Given the description of an element on the screen output the (x, y) to click on. 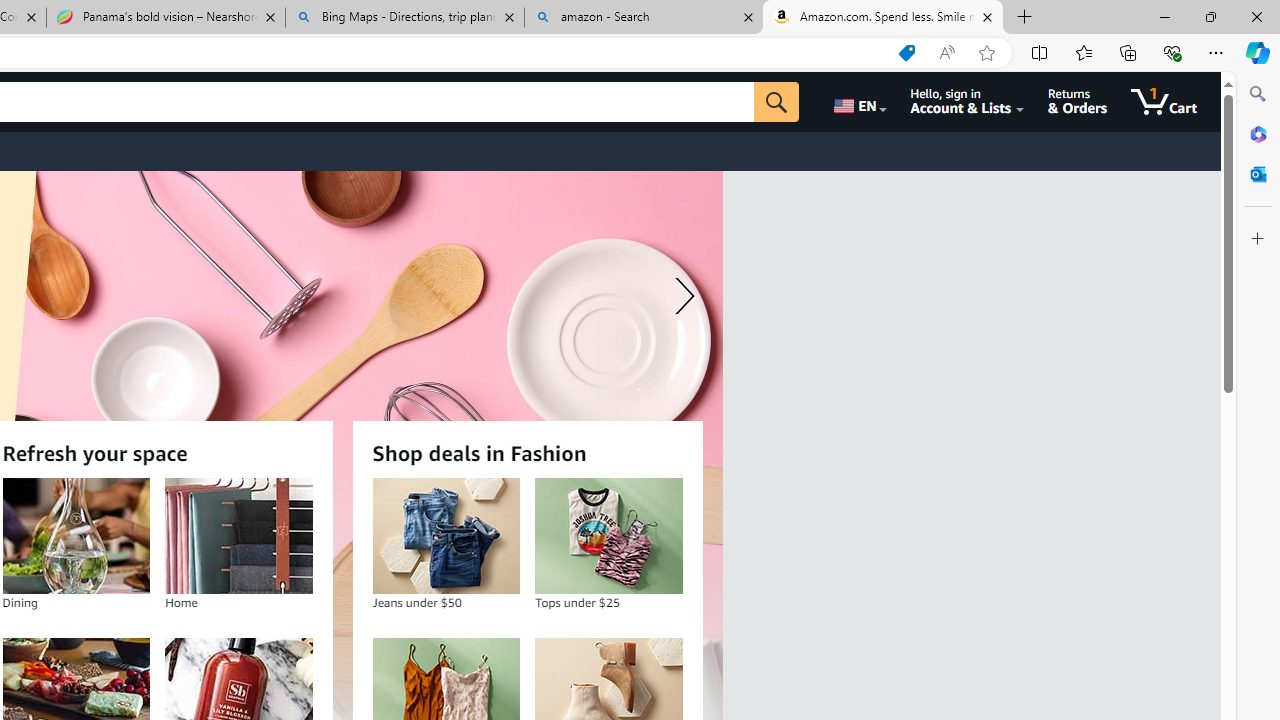
Customize (1258, 239)
Tops under $25 (609, 536)
Microsoft 365 (1258, 133)
Read aloud this page (Ctrl+Shift+U) (946, 53)
Home (239, 536)
